Given the description of an element on the screen output the (x, y) to click on. 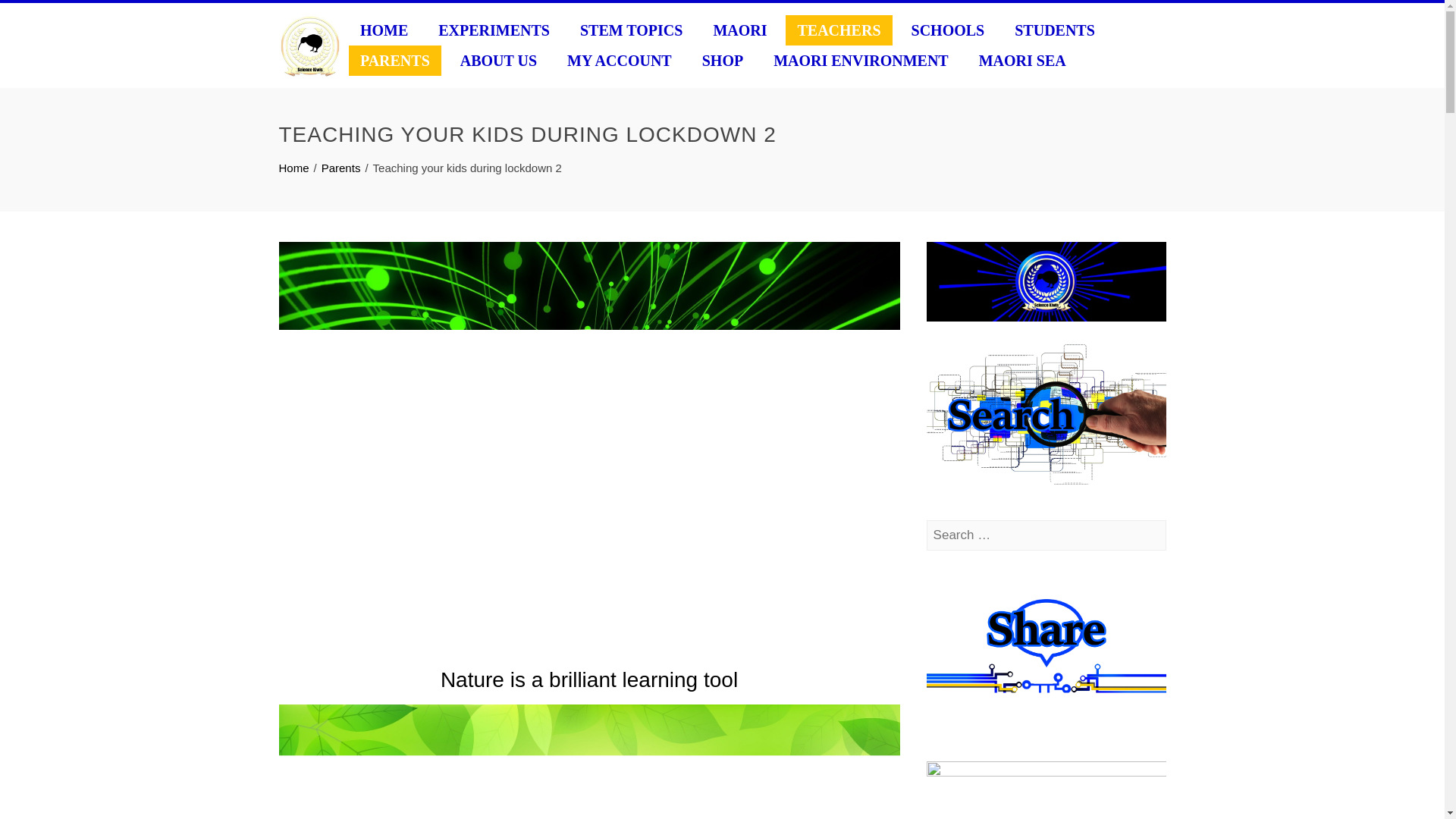
HOME (384, 30)
EXPERIMENTS (493, 30)
STEM TOPICS (631, 30)
